Given the description of an element on the screen output the (x, y) to click on. 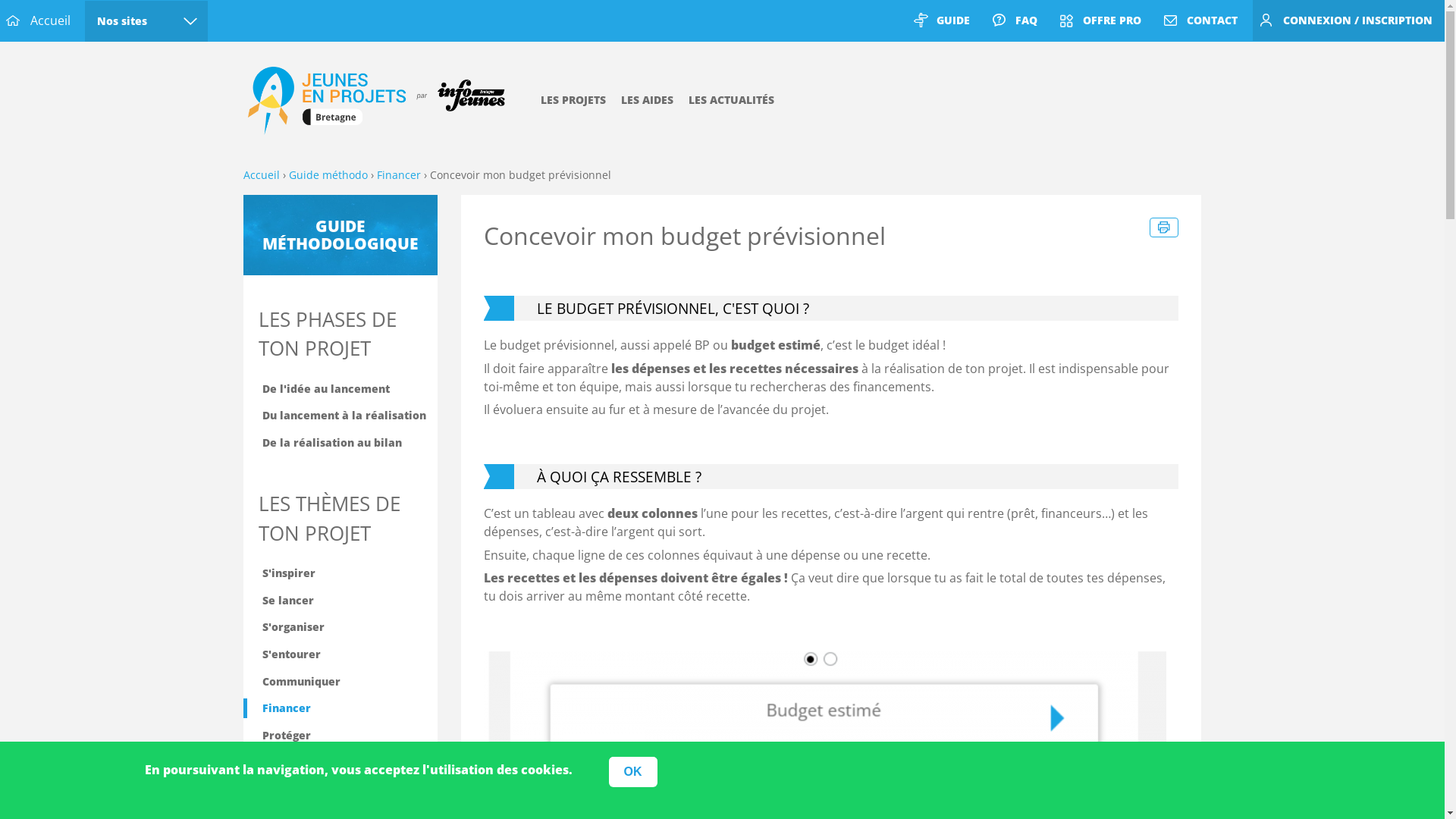
S'organiser Element type: text (340, 627)
S'inspirer Element type: text (340, 573)
CONTACT Element type: text (1202, 20)
Accueil Element type: text (40, 20)
Financer Element type: text (398, 174)
Nos sites Element type: text (145, 20)
ACCUEIL BRETAGNE Element type: text (383, 100)
Valoriser Element type: text (340, 761)
FAQ Element type: text (1017, 20)
Divers Element type: text (340, 789)
GUIDE Element type: text (944, 20)
LES PROJETS Element type: text (572, 99)
OK Element type: text (632, 771)
LES AIDES Element type: text (646, 99)
Se lancer Element type: text (340, 600)
CONNEXION / INSCRIPTION Element type: text (1348, 20)
S'entourer Element type: text (340, 654)
Communiquer Element type: text (340, 681)
OFFRE PRO Element type: text (1102, 20)
Financer Element type: text (340, 708)
Accueil Element type: text (260, 174)
